Given the description of an element on the screen output the (x, y) to click on. 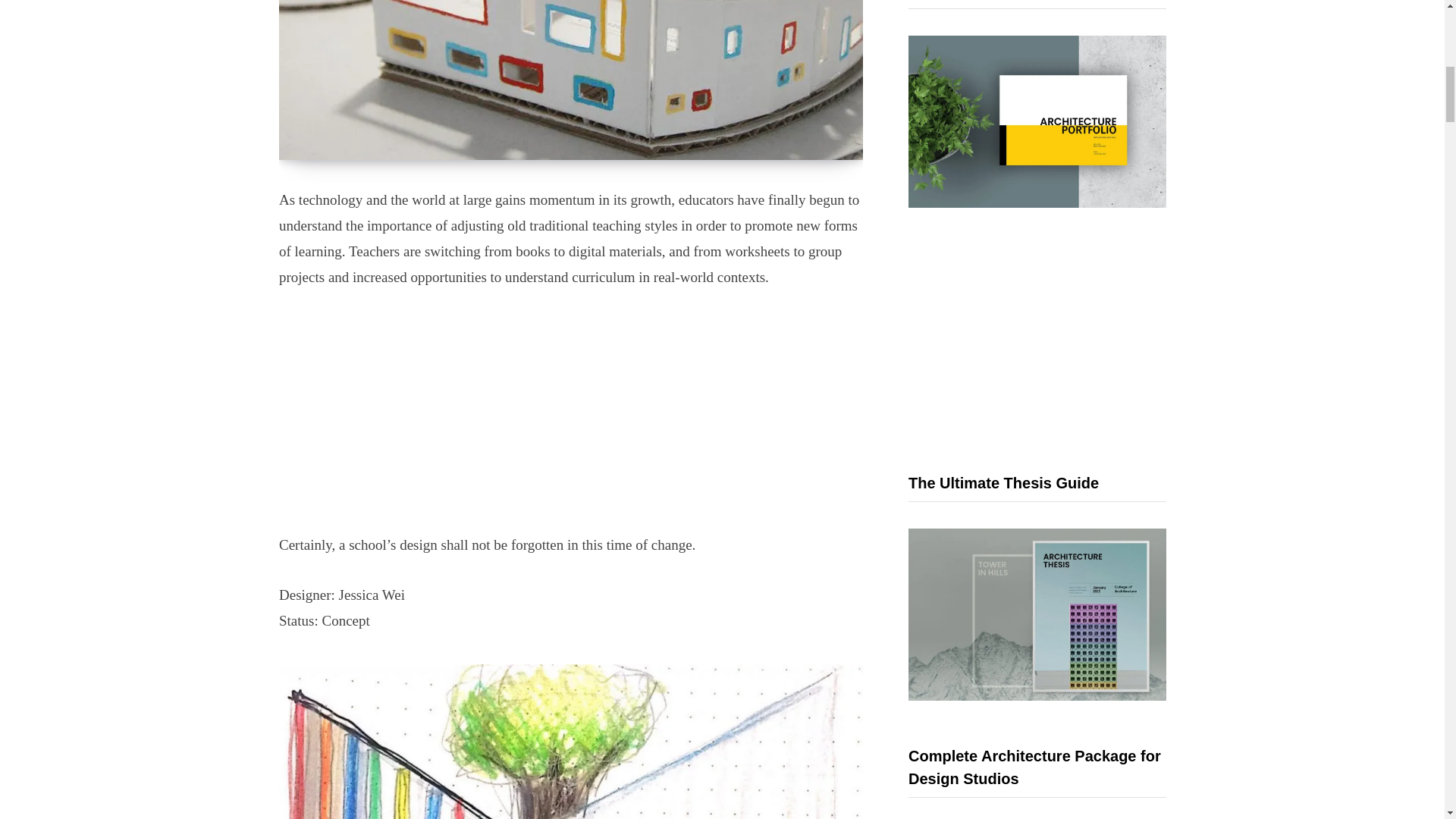
Primary School By Jessica Wei (571, 79)
Advertisement (571, 419)
